Given the description of an element on the screen output the (x, y) to click on. 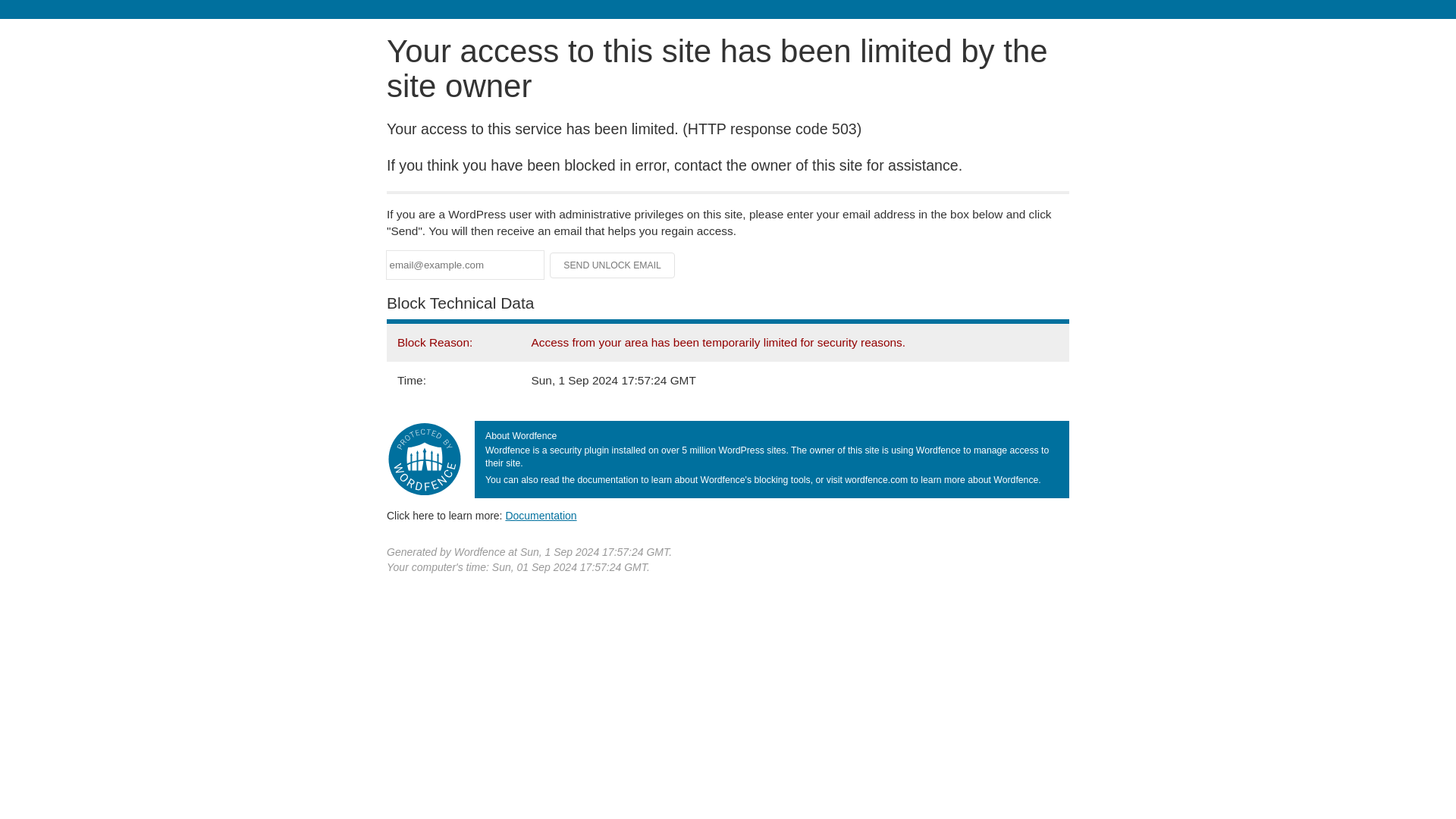
Documentation (540, 515)
Send Unlock Email (612, 265)
Send Unlock Email (612, 265)
